Given the description of an element on the screen output the (x, y) to click on. 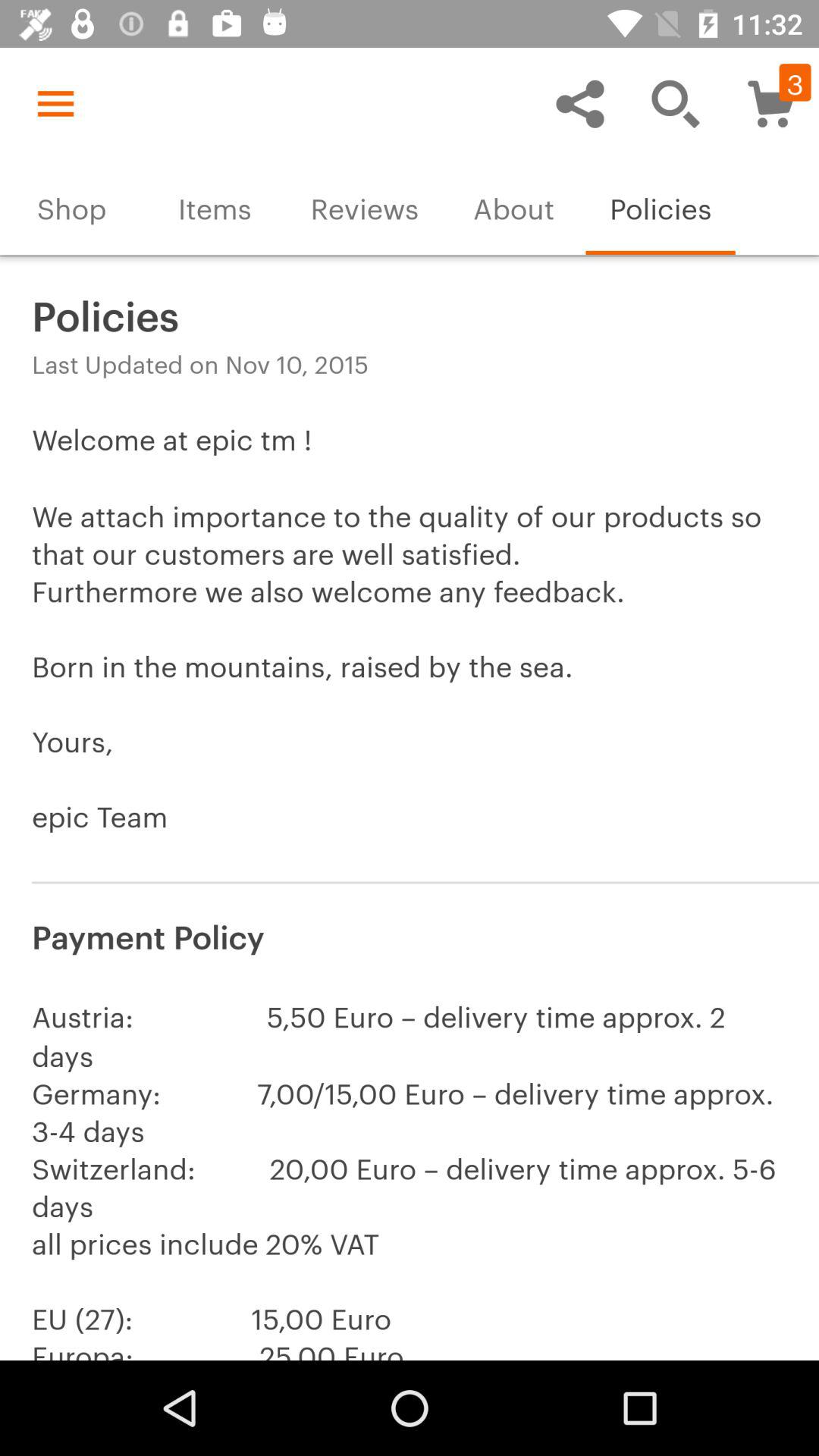
press item above policies icon (675, 103)
